Given the description of an element on the screen output the (x, y) to click on. 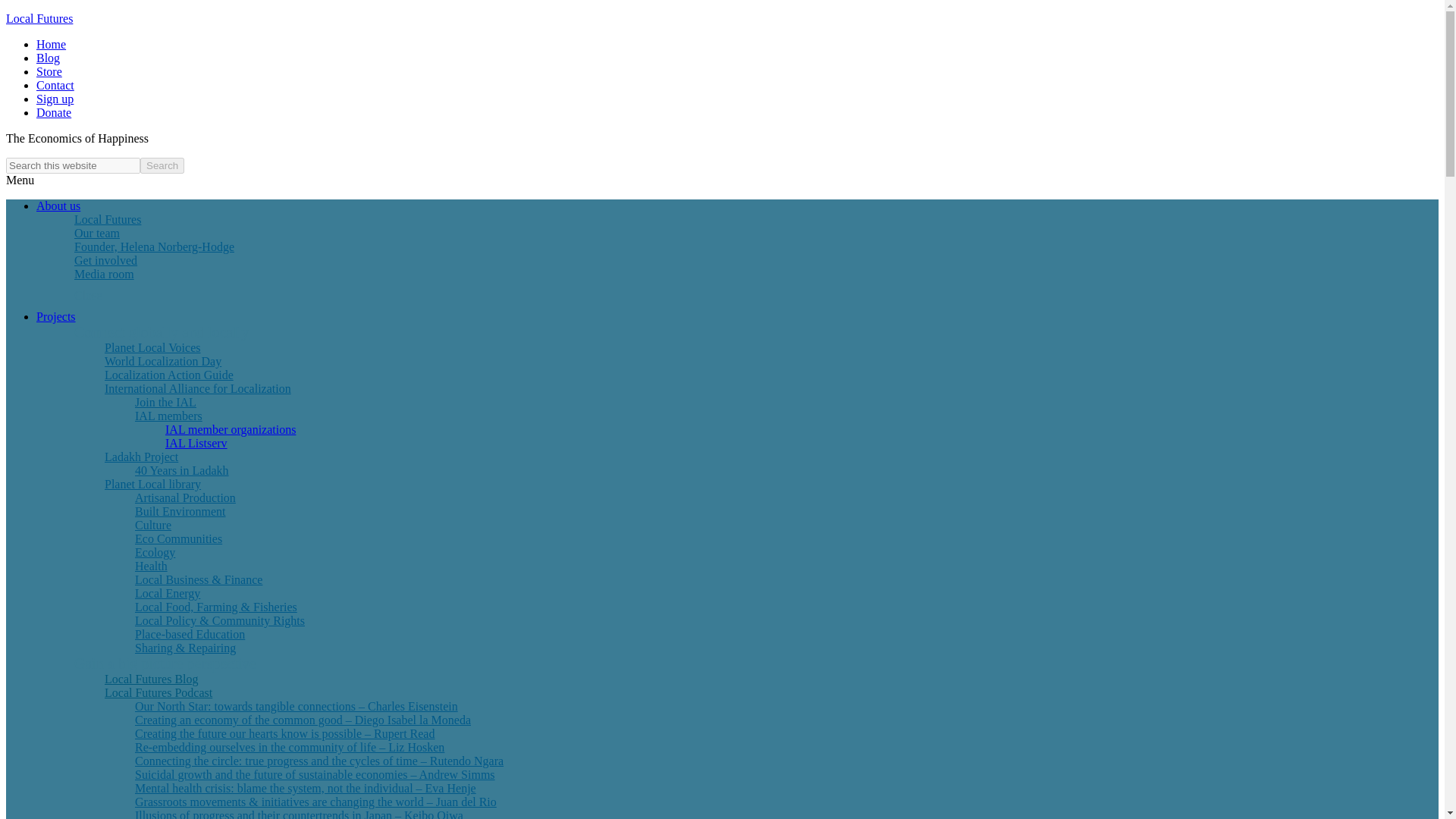
Health (151, 565)
Health (151, 565)
Eco Communities (179, 538)
Culture (153, 524)
Local Energy (168, 593)
Home (50, 43)
Media room (103, 274)
Ecology (155, 552)
Artisanal Production (185, 497)
Planet Local library (152, 483)
Search (161, 165)
Planet Local Voices (152, 347)
Menu (19, 179)
International Alliance for Localization (197, 388)
Blog (47, 57)
